Given the description of an element on the screen output the (x, y) to click on. 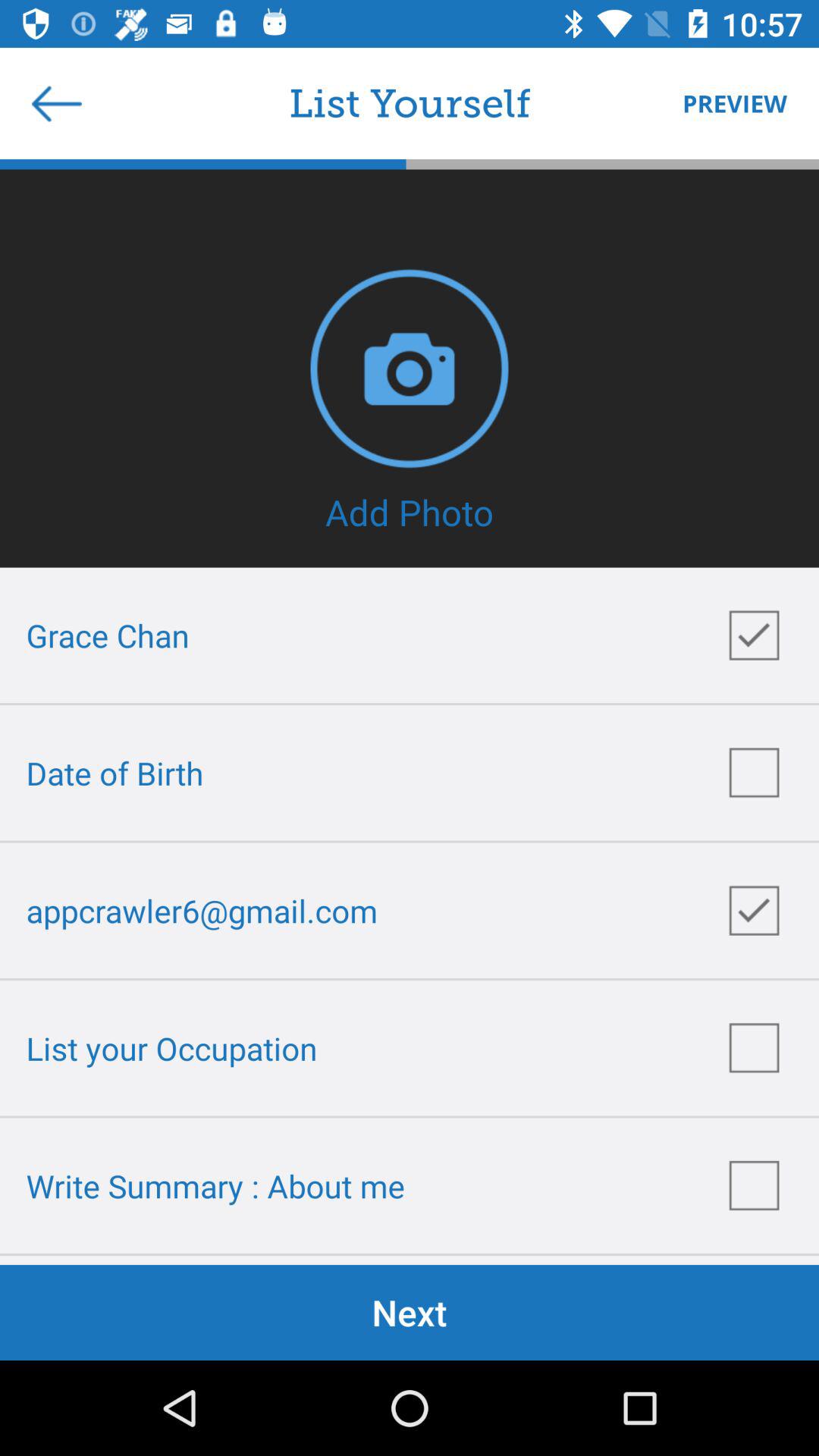
add photo (409, 368)
